Given the description of an element on the screen output the (x, y) to click on. 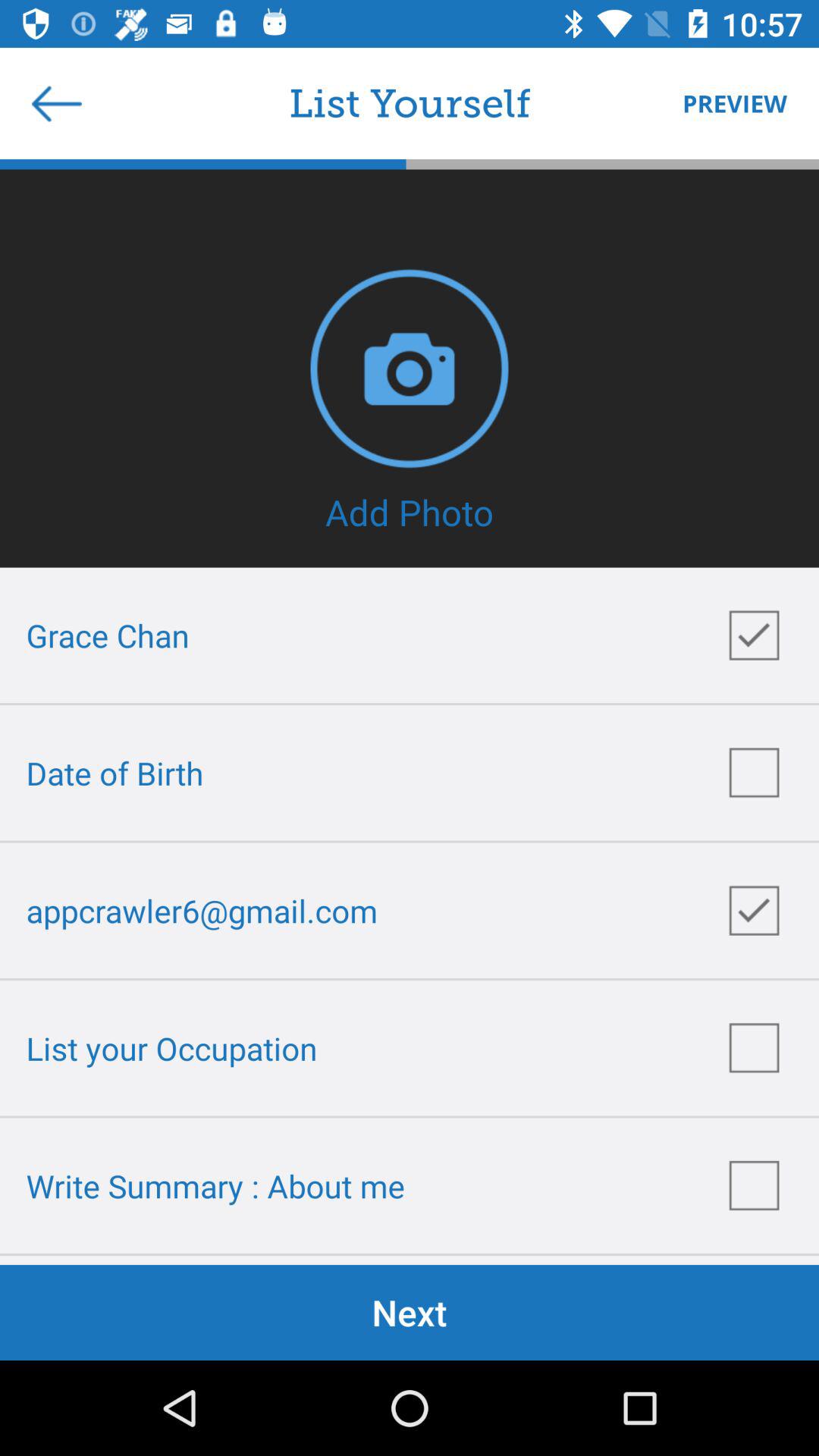
add photo (409, 368)
